Given the description of an element on the screen output the (x, y) to click on. 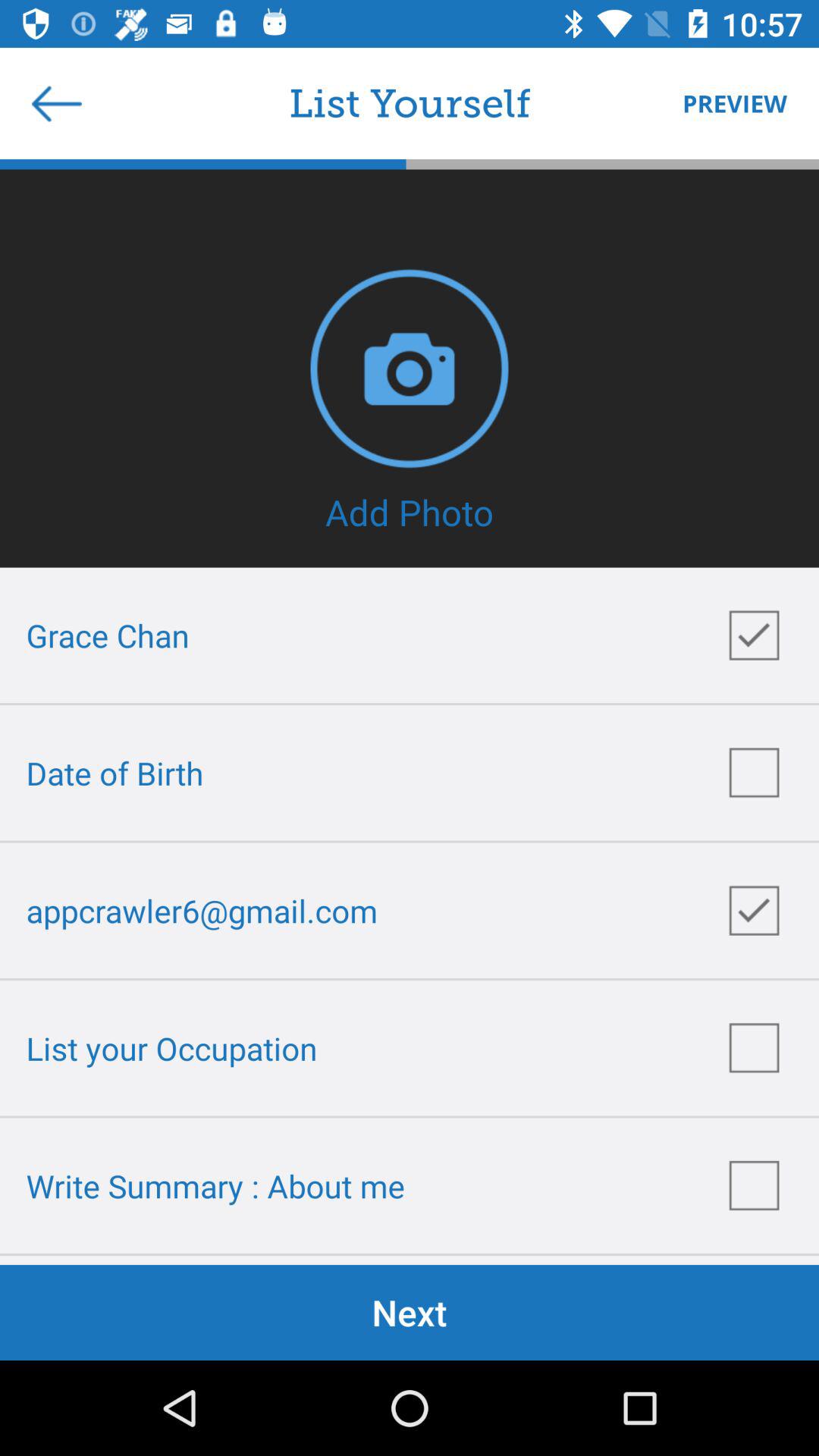
add photo (409, 368)
